Given the description of an element on the screen output the (x, y) to click on. 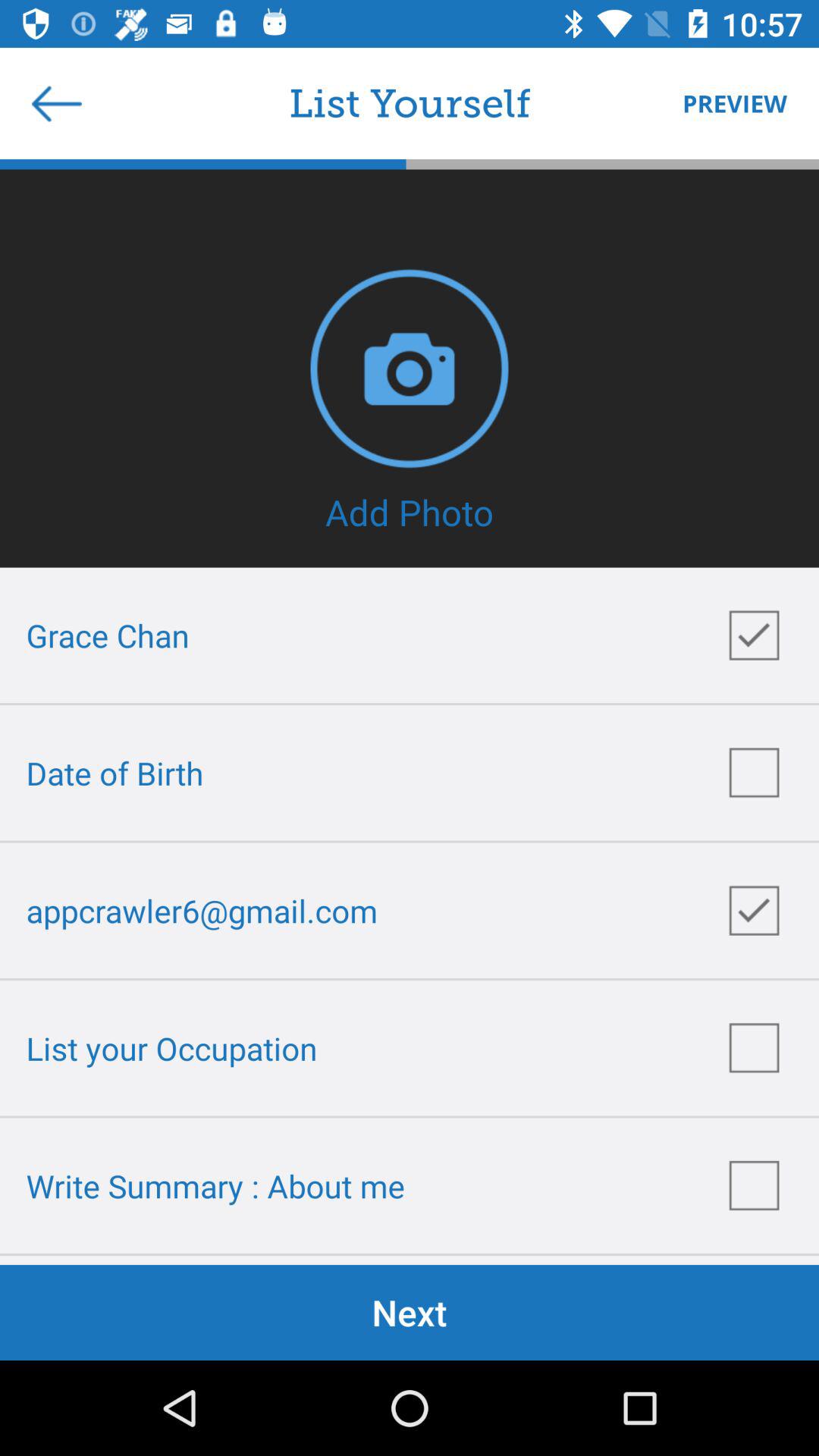
add photo (409, 368)
